Given the description of an element on the screen output the (x, y) to click on. 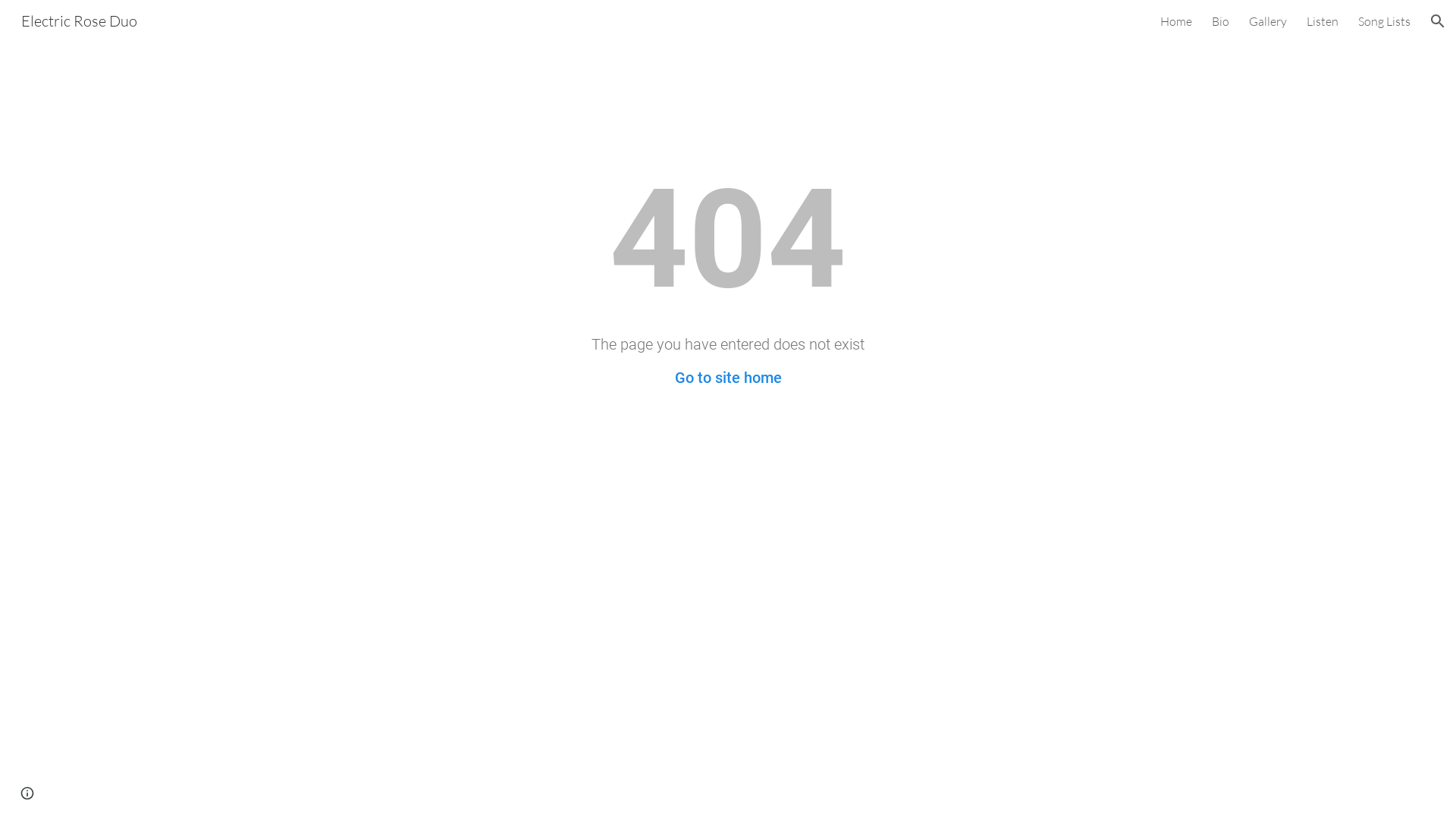
Listen Element type: text (1322, 20)
Gallery Element type: text (1267, 20)
Bio Element type: text (1220, 20)
Home Element type: text (1176, 20)
Electric Rose Duo Element type: text (79, 18)
Go to site home Element type: text (727, 377)
Song Lists Element type: text (1384, 20)
